Given the description of an element on the screen output the (x, y) to click on. 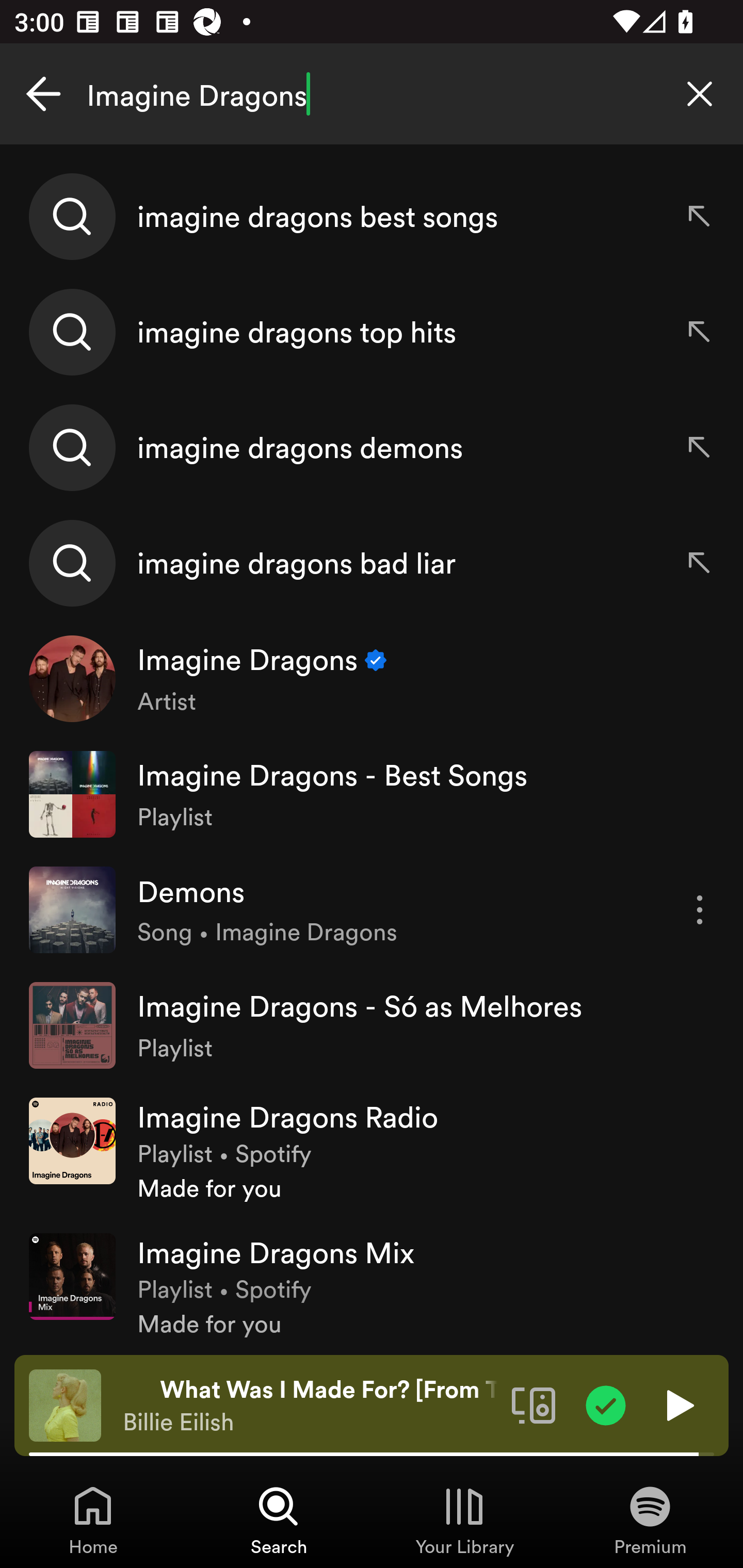
Imagine Dragons (371, 93)
Cancel (43, 93)
Clear search query (699, 93)
imagine dragons best songs (371, 216)
imagine dragons top hits (371, 332)
imagine dragons demons (371, 447)
imagine dragons bad liar (371, 562)
Imagine Dragons Verified Artist (371, 678)
Imagine Dragons - Best Songs Playlist (371, 793)
More options for song Demons (699, 910)
Imagine Dragons - Só as Melhores Playlist (371, 1025)
